Given the description of an element on the screen output the (x, y) to click on. 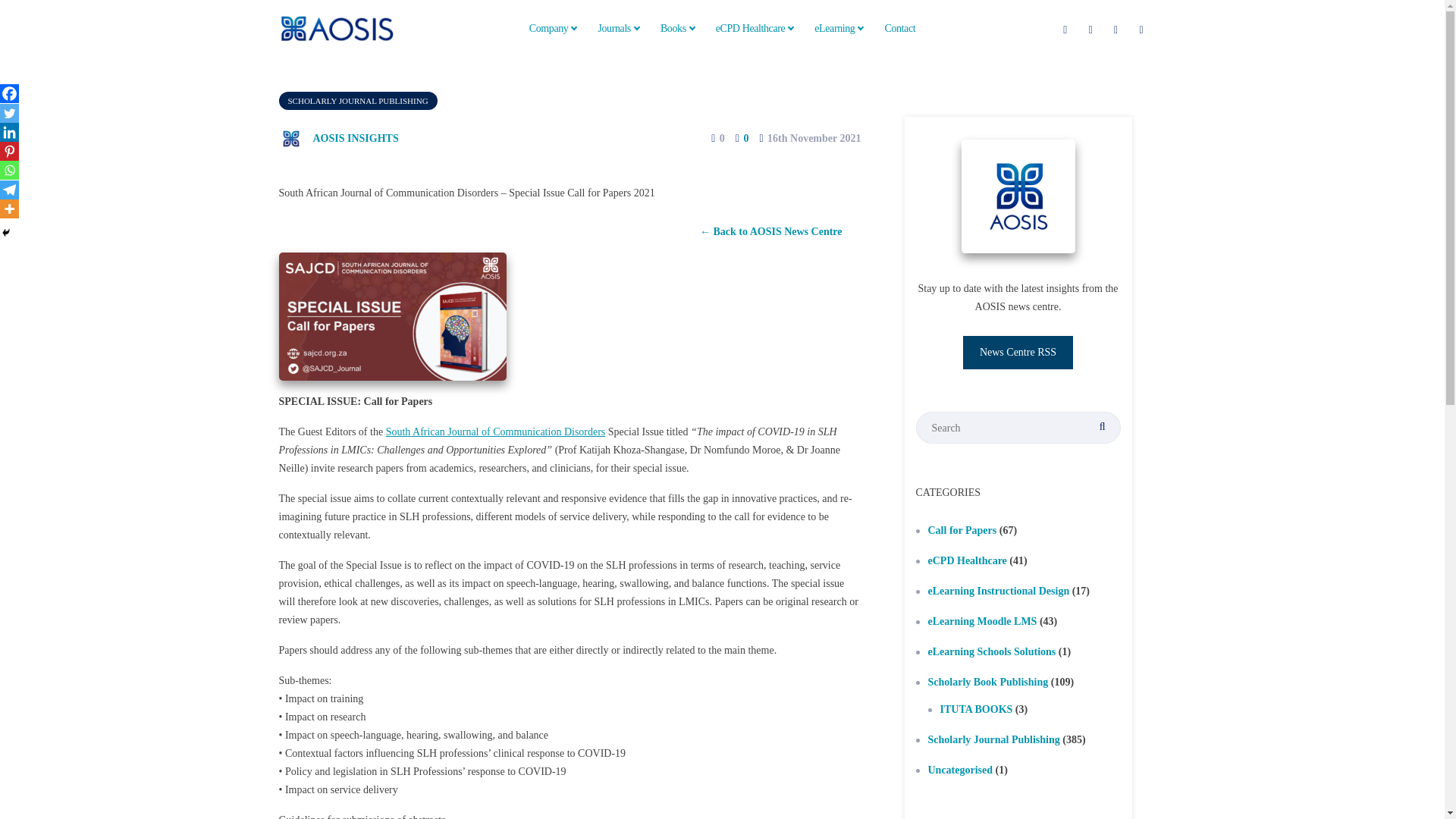
Company (552, 28)
eLearning (838, 28)
Whatsapp (9, 169)
0 comments (741, 138)
Twitter (9, 113)
AOSIS Insights (338, 137)
  Likes (712, 138)
Facebook (9, 93)
Pinterest (9, 150)
Books (677, 28)
Journals (618, 28)
eCPD Healthcare (754, 28)
Telegram (9, 189)
